Given the description of an element on the screen output the (x, y) to click on. 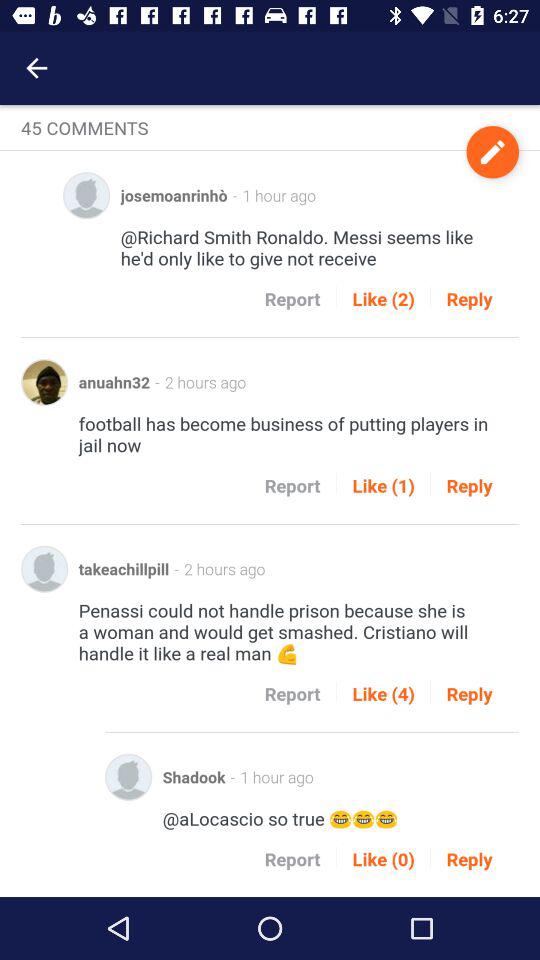
click the item next to 1 hour ago icon (492, 151)
